Given the description of an element on the screen output the (x, y) to click on. 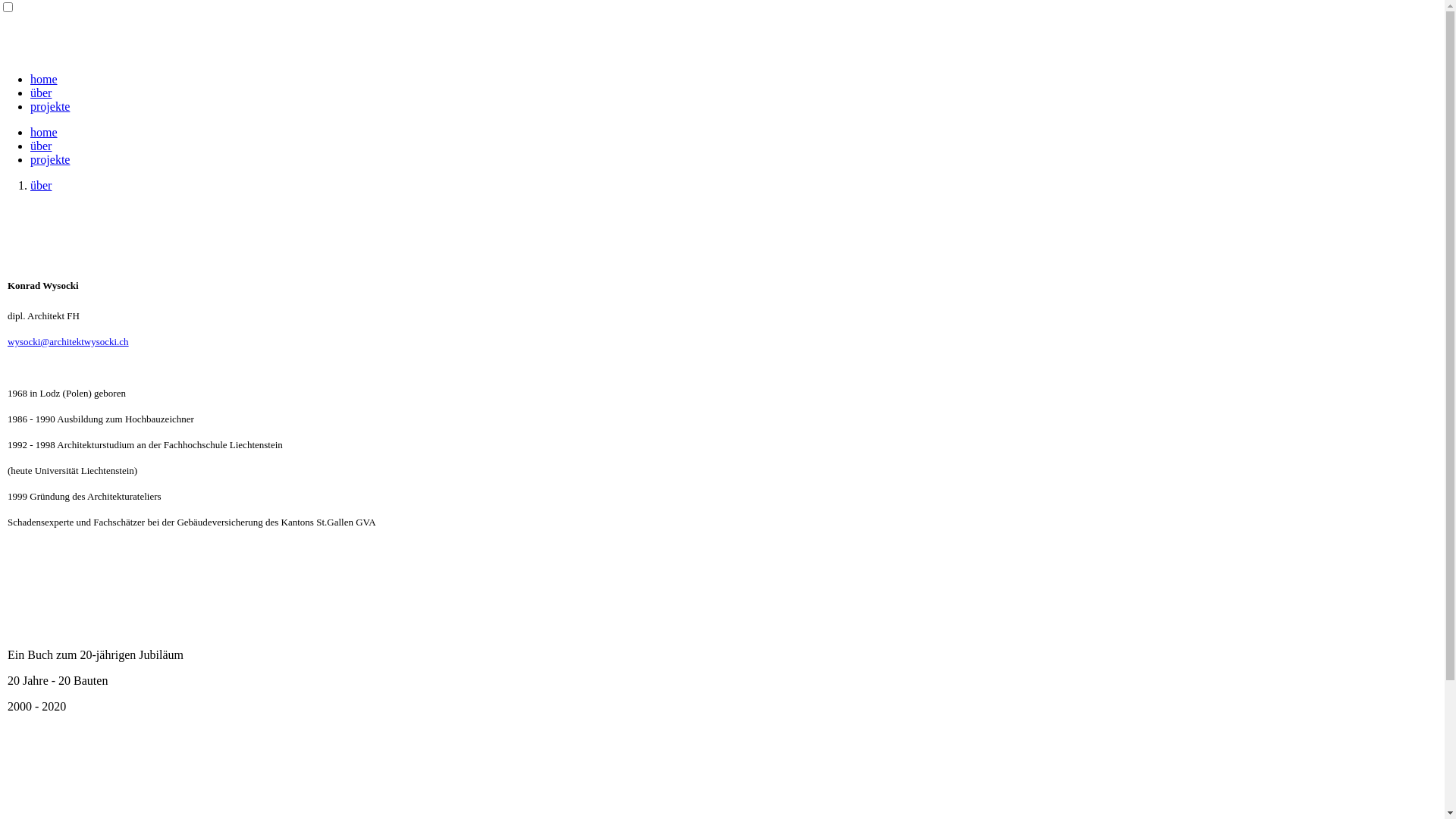
home Element type: text (43, 131)
projekte Element type: text (49, 106)
projekte Element type: text (49, 159)
wysocki@architektwysocki.ch Element type: text (67, 341)
home Element type: text (43, 78)
